Given the description of an element on the screen output the (x, y) to click on. 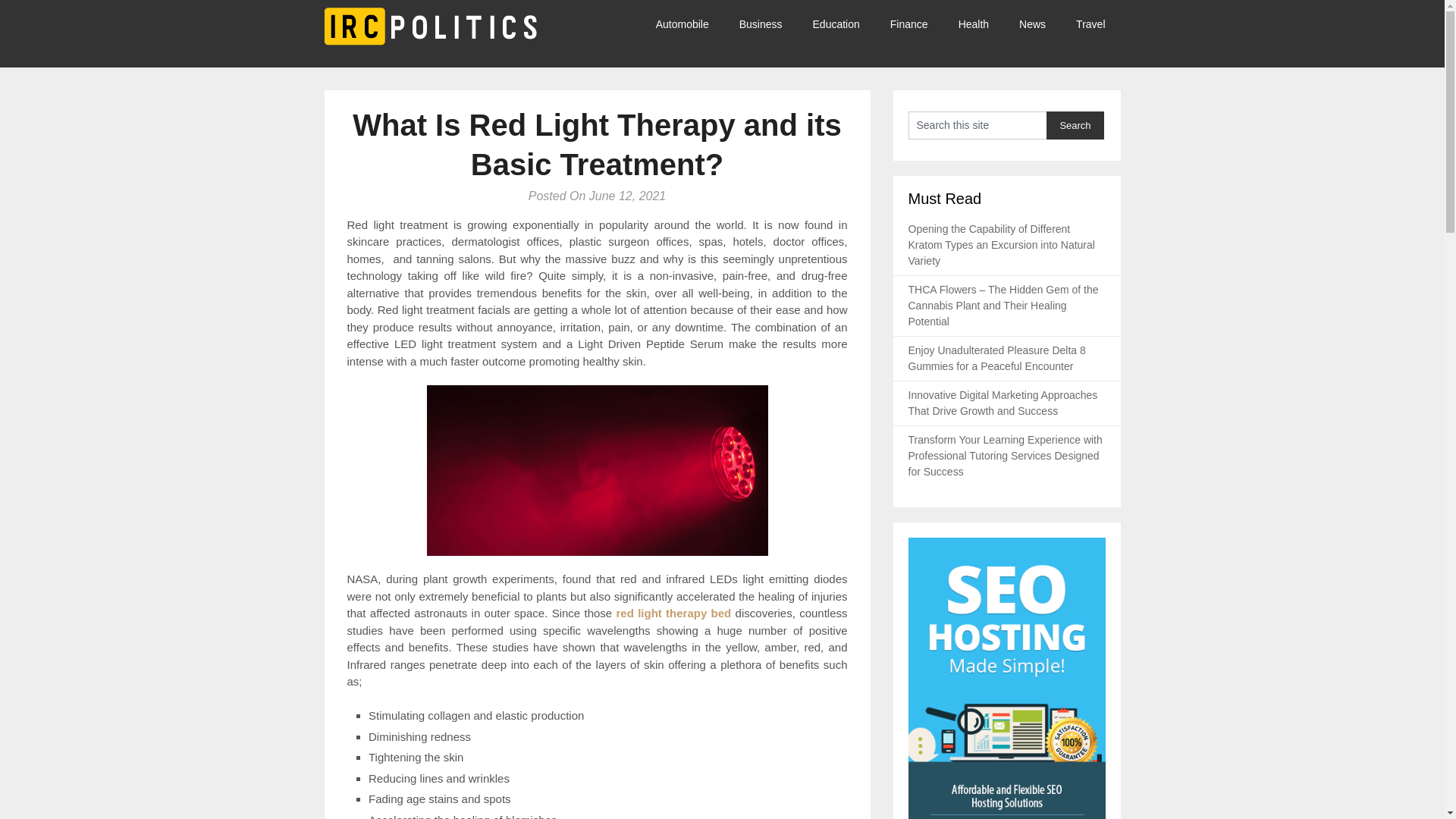
Health (973, 24)
Travel (1090, 24)
Education (836, 24)
Search (1075, 125)
Business (760, 24)
Search (1075, 125)
Finance (909, 24)
Search this site (977, 125)
red light therapy bed (672, 612)
